Given the description of an element on the screen output the (x, y) to click on. 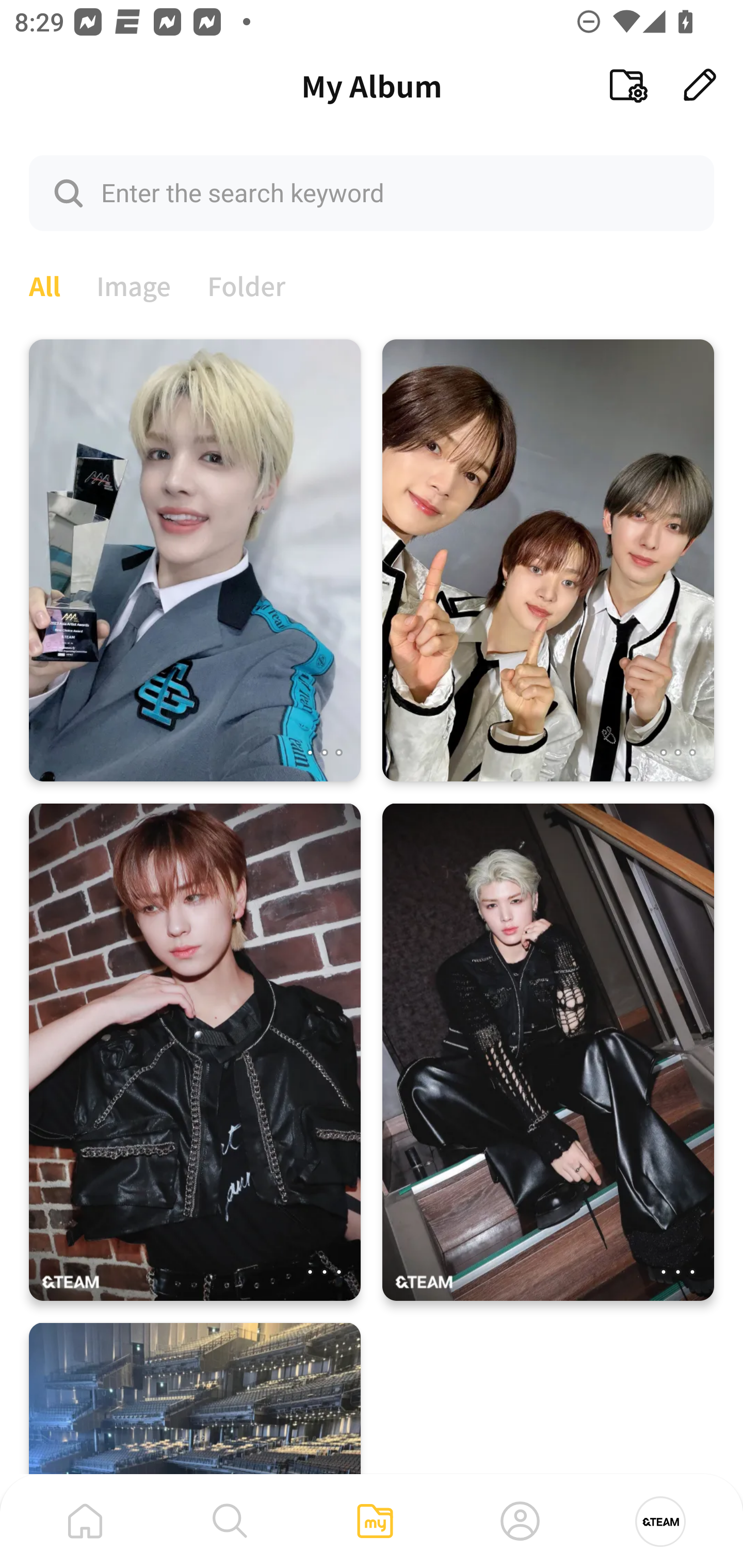
Enter the search keyword (371, 192)
All (44, 284)
Image (133, 284)
Folder (246, 284)
